Given the description of an element on the screen output the (x, y) to click on. 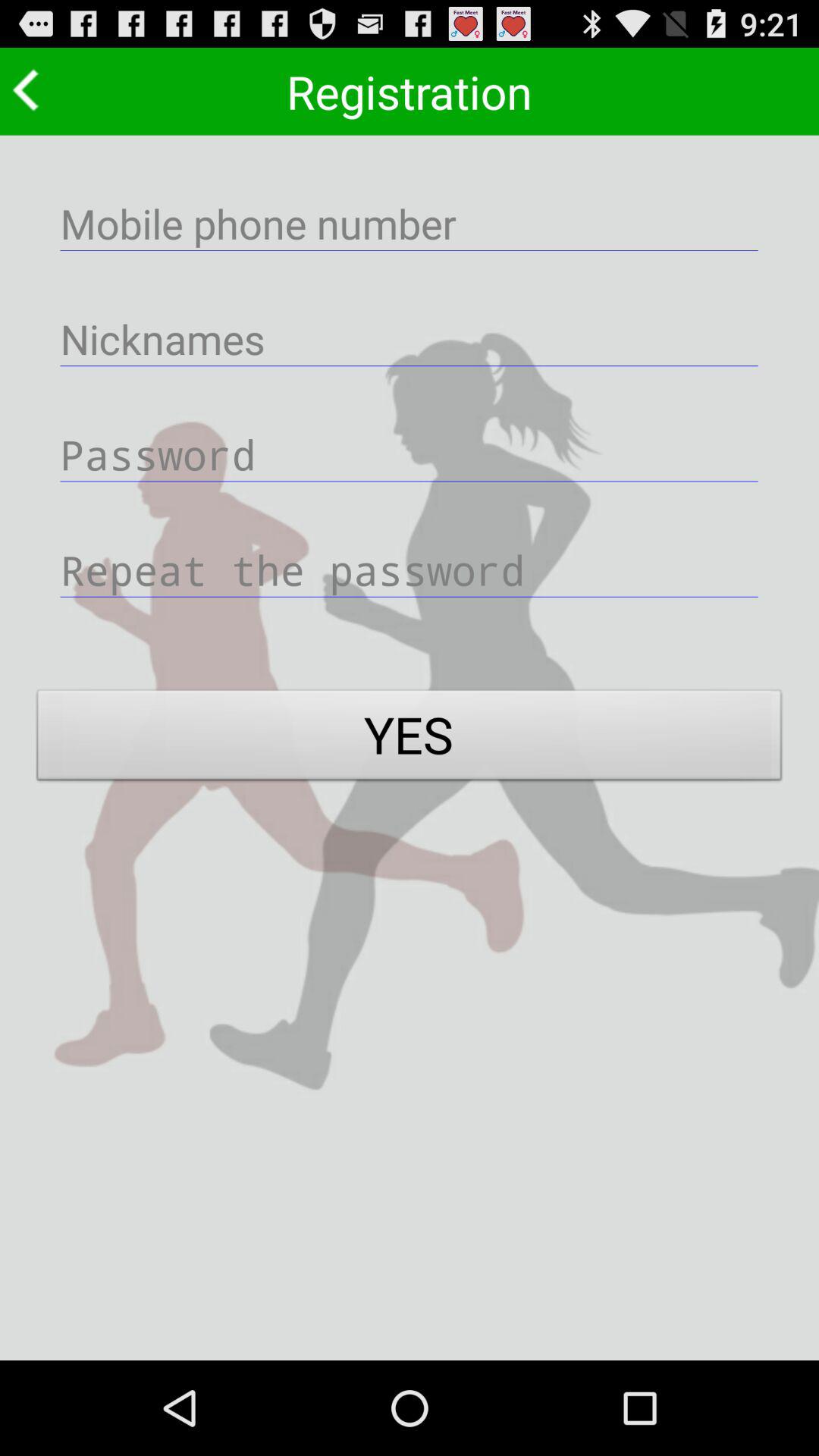
reenter password (409, 569)
